Given the description of an element on the screen output the (x, y) to click on. 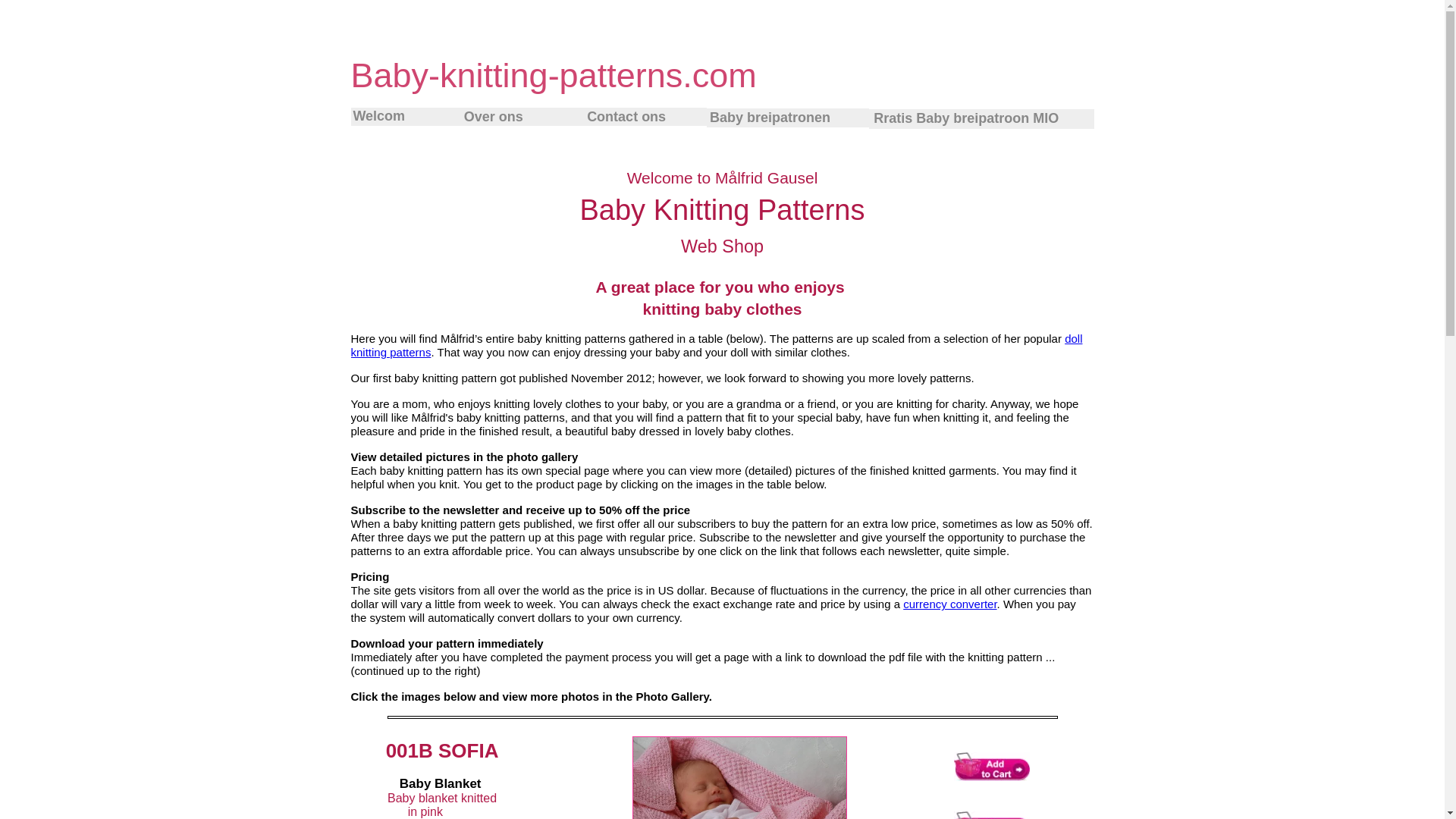
Rratis Baby breipatroon MIO (981, 118)
doll knitting patterns (715, 345)
Baby-knitting-patterns.com (552, 75)
Welcom (405, 116)
Contact ons (645, 116)
Over ons (523, 116)
currency converter (948, 603)
Baby breipatronen (787, 117)
